Given the description of an element on the screen output the (x, y) to click on. 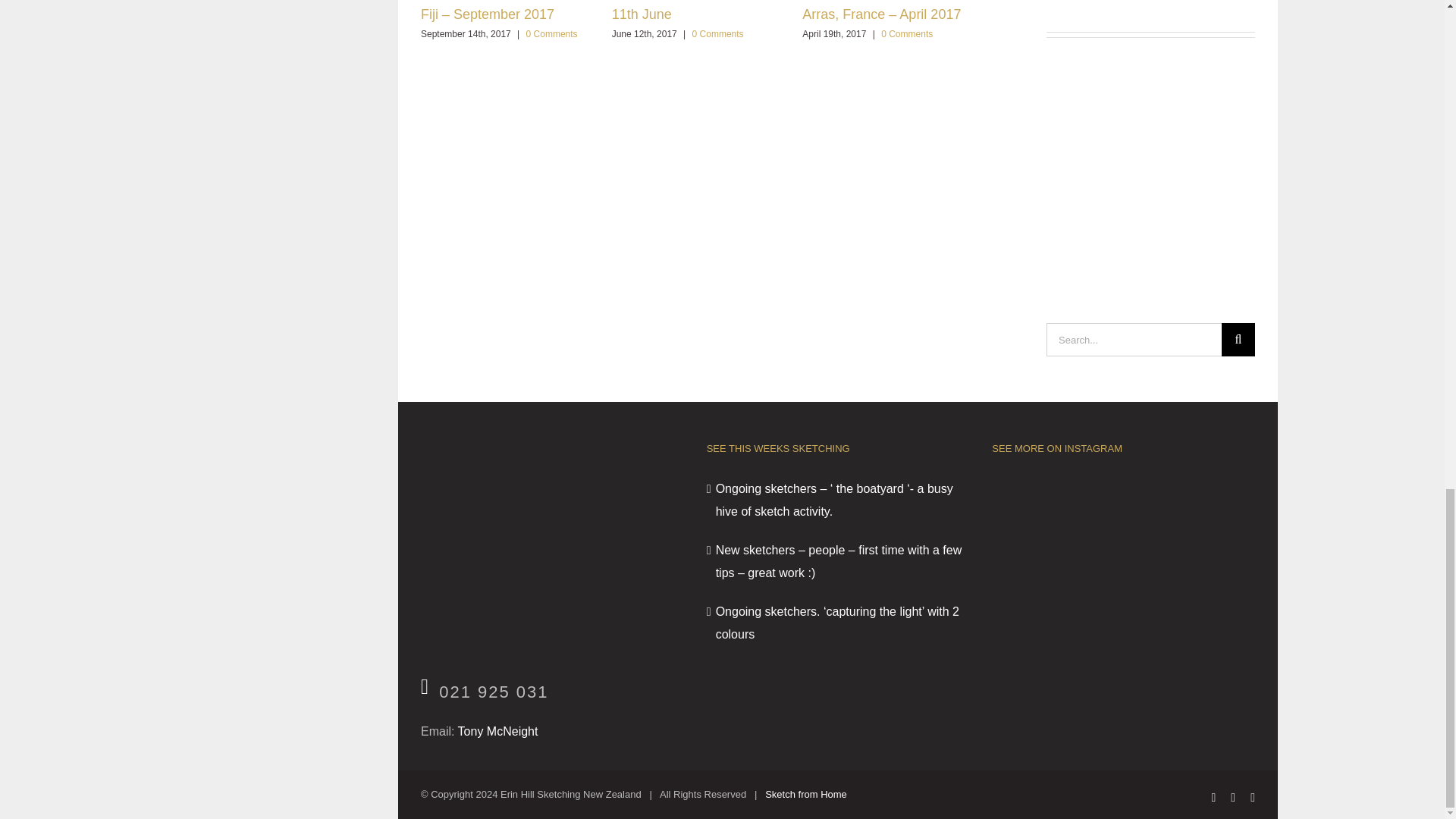
0 Comments (551, 33)
Day Class Rotorua Sunday 11th June (693, 11)
0 Comments (718, 33)
0 Comments (906, 33)
Day Class Rotorua Sunday 11th June (693, 11)
